Given the description of an element on the screen output the (x, y) to click on. 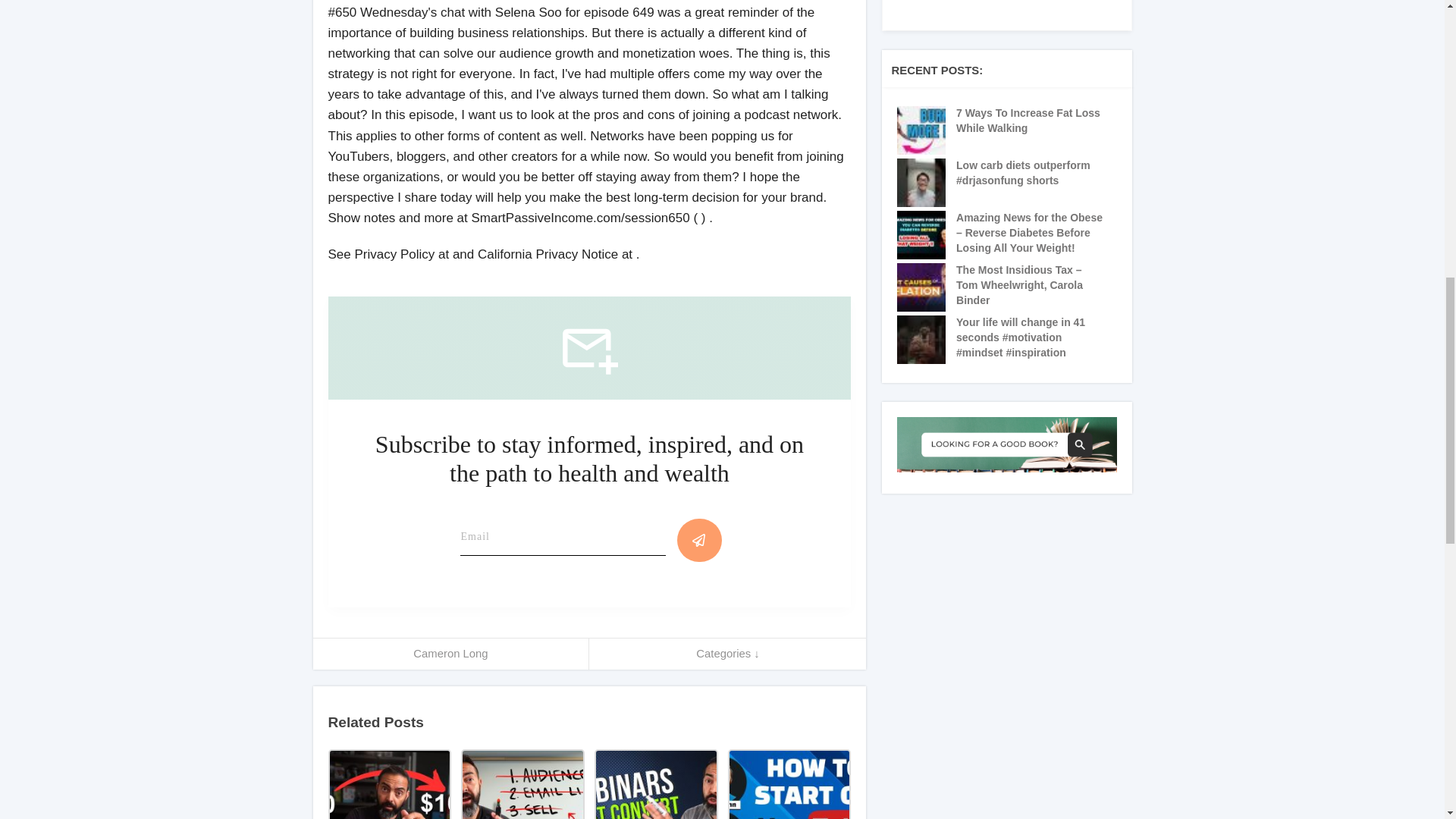
If I Was Starting a YouTube Channel Today (789, 784)
Cameron Long (450, 653)
The CORRECT Way to Sell Anything Online (522, 784)
7 Ways To Increase Fat Loss While Walking (1029, 120)
15 Years of Online Business Advice in 28 Minutes (388, 784)
